Given the description of an element on the screen output the (x, y) to click on. 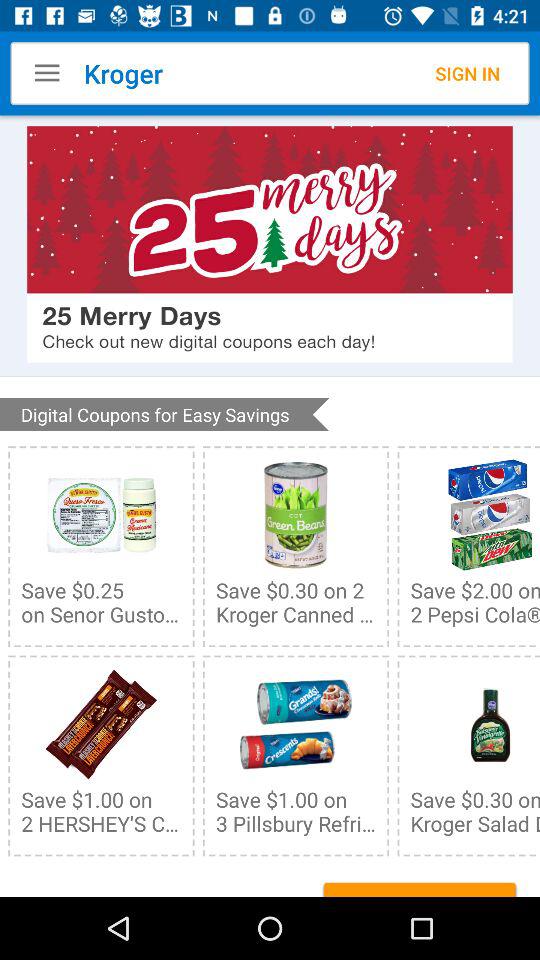
click on image in first row first image at left middle (100, 514)
